Given the description of an element on the screen output the (x, y) to click on. 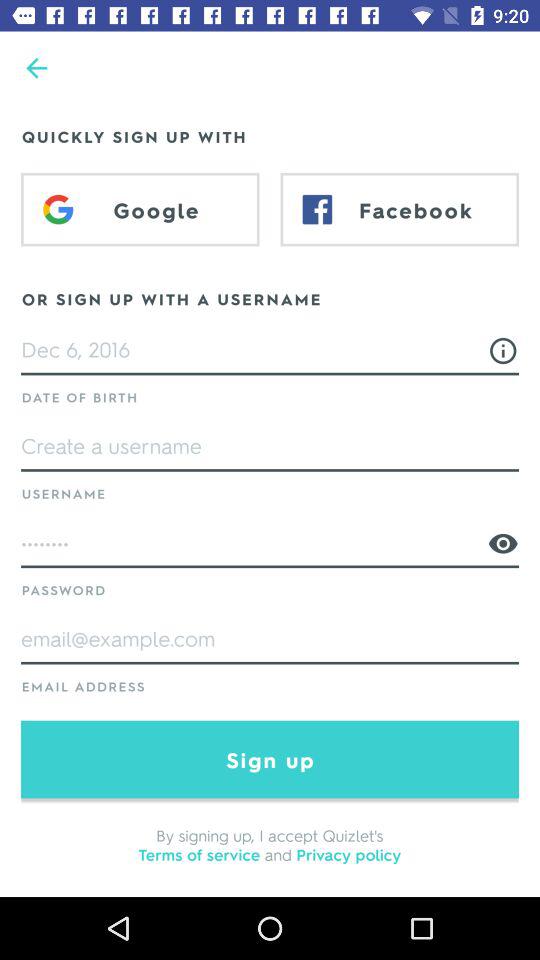
choose the icon to the left of the facebook icon (140, 209)
